Given the description of an element on the screen output the (x, y) to click on. 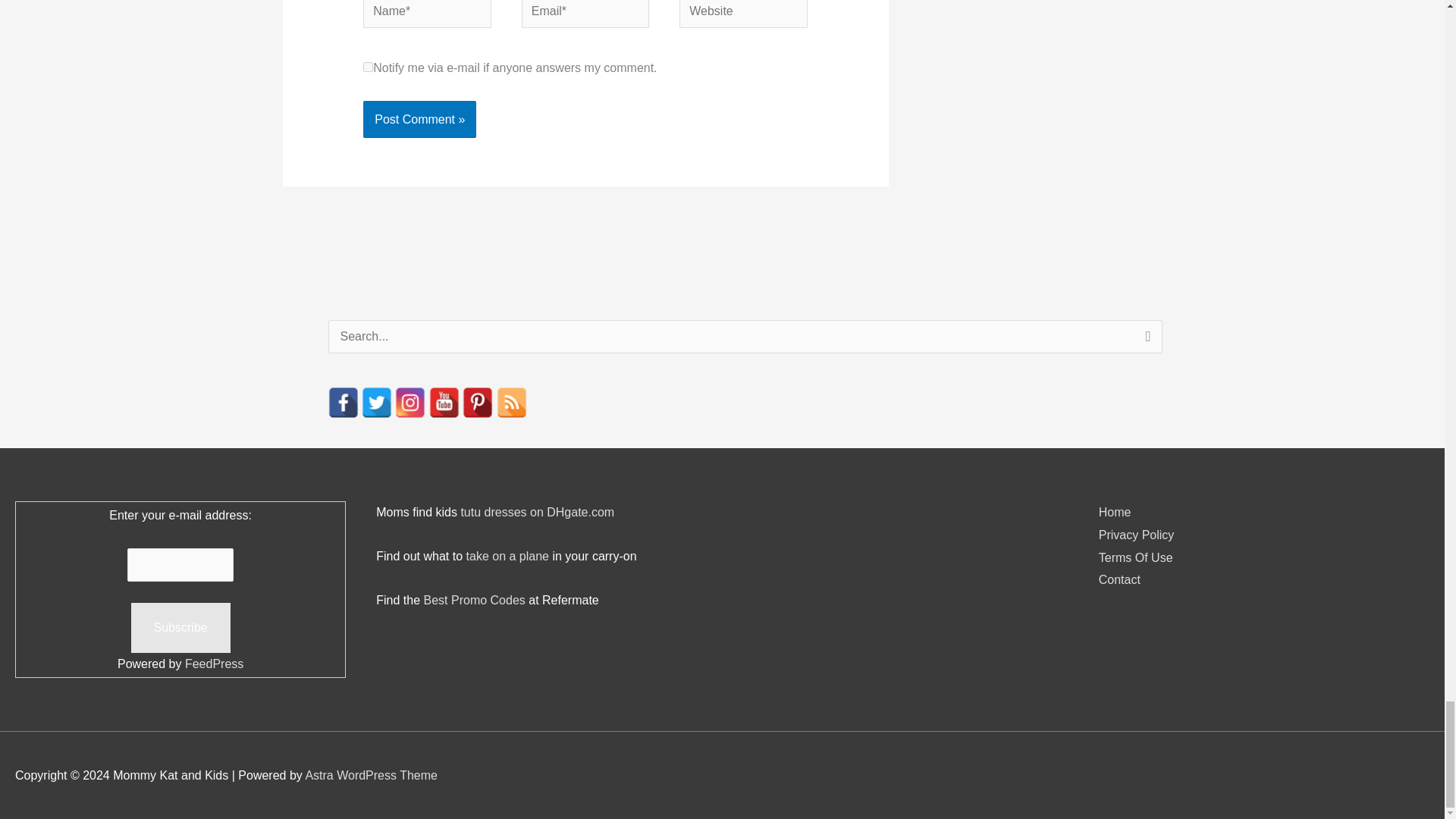
on (367, 67)
Subscribe (180, 627)
